Given the description of an element on the screen output the (x, y) to click on. 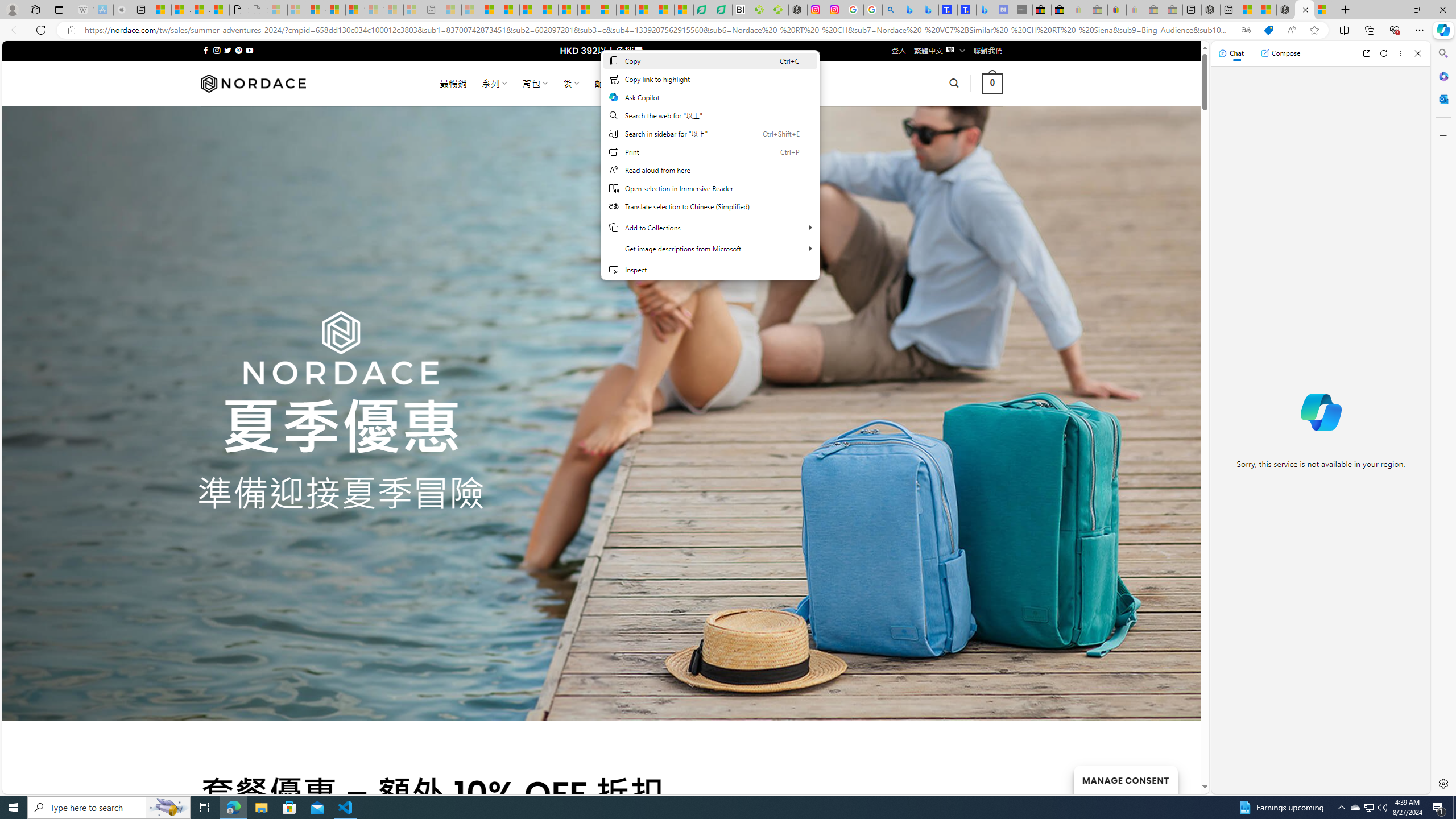
Ask Copilot (710, 97)
MANAGE CONSENT (1125, 779)
Threats and offensive language policy | eBay (1116, 9)
alabama high school quarterback dies - Search (891, 9)
